Given the description of an element on the screen output the (x, y) to click on. 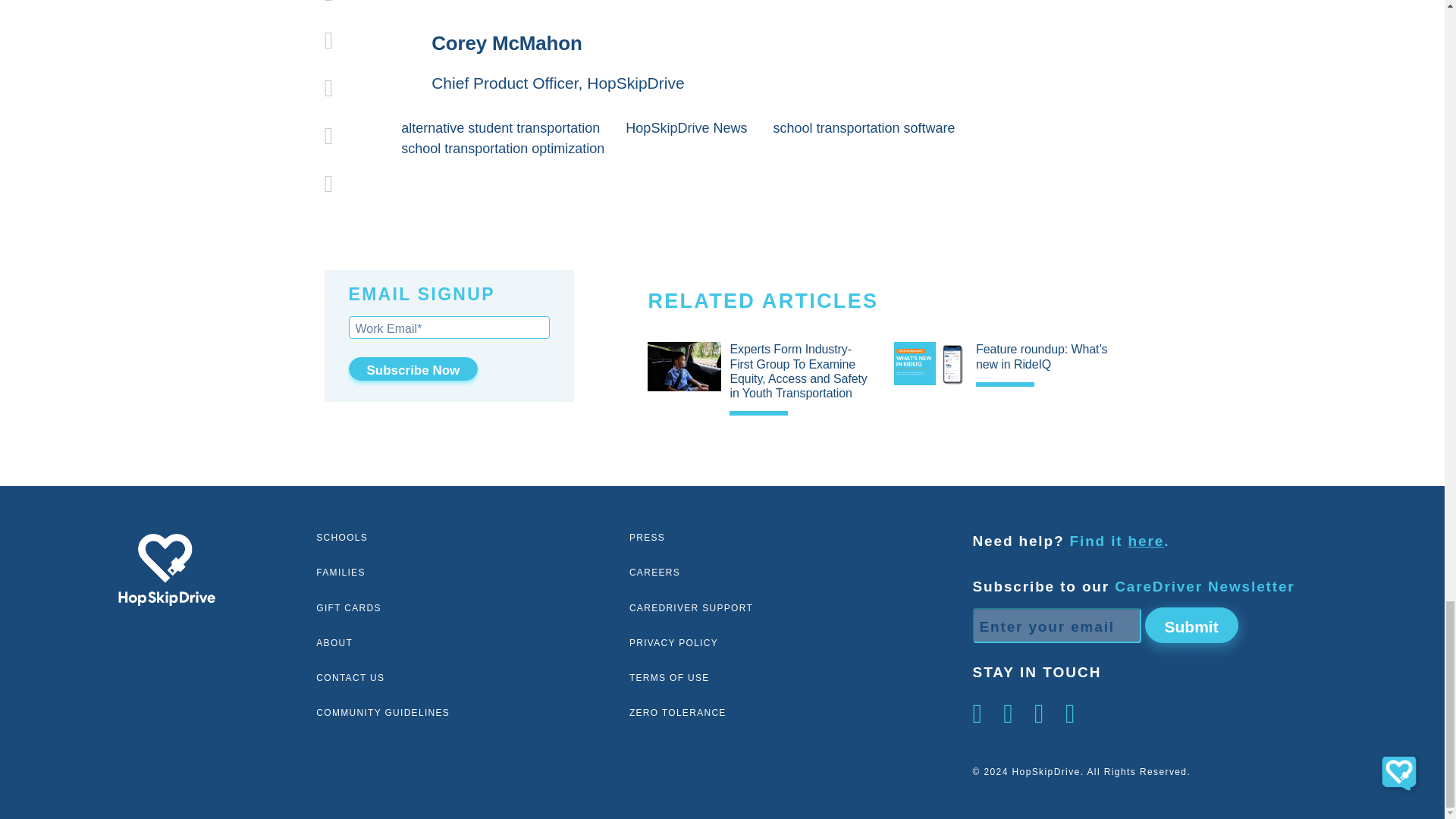
Subscribe Now (414, 368)
Enter your email (1056, 625)
Home (166, 569)
Submit (1191, 624)
